Given the description of an element on the screen output the (x, y) to click on. 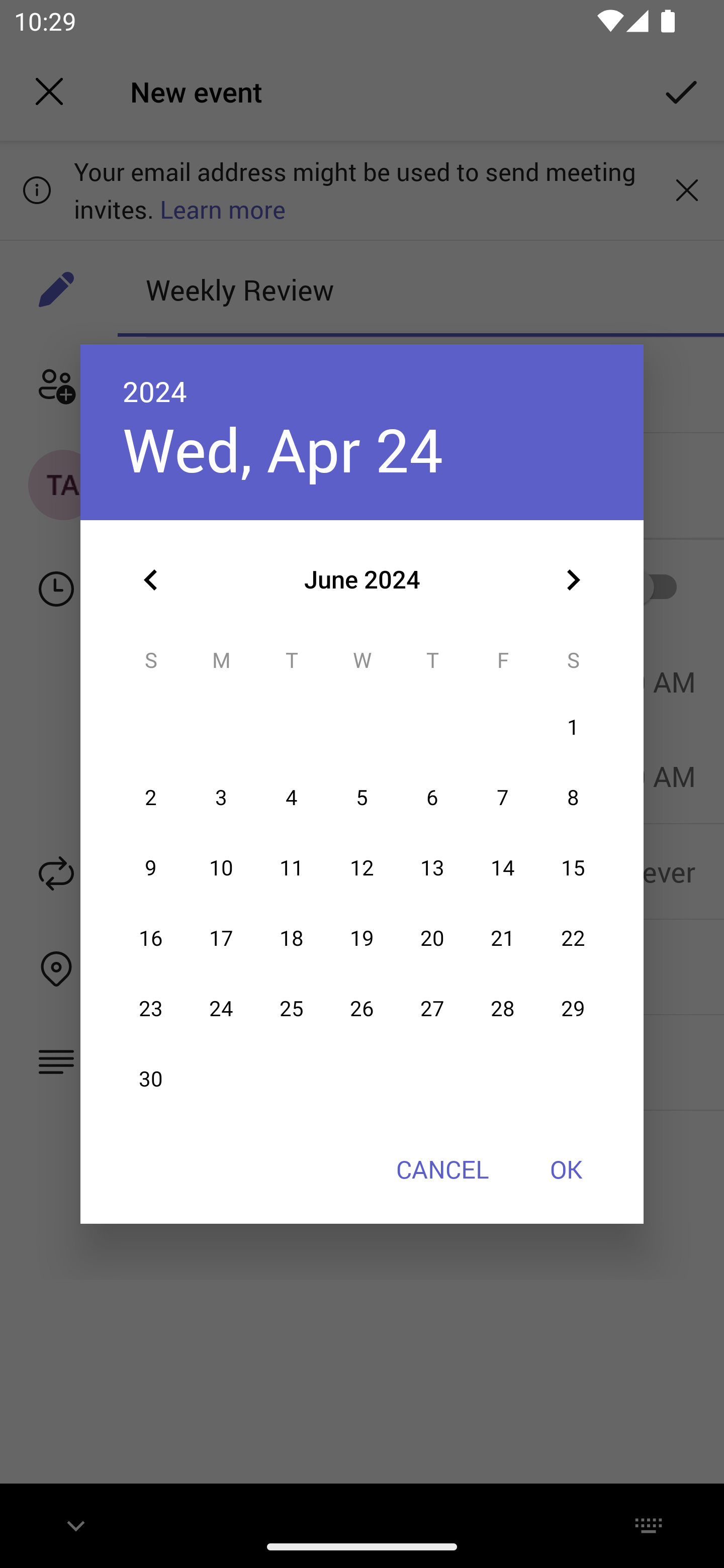
2024 (154, 391)
Wed, Apr 24 (282, 449)
Previous month (150, 579)
Next month (572, 579)
1 01 June 2024 (572, 728)
2 02 June 2024 (150, 797)
3 03 June 2024 (221, 797)
4 04 June 2024 (291, 797)
5 05 June 2024 (361, 797)
6 06 June 2024 (432, 797)
7 07 June 2024 (502, 797)
8 08 June 2024 (572, 797)
9 09 June 2024 (150, 867)
10 10 June 2024 (221, 867)
11 11 June 2024 (291, 867)
12 12 June 2024 (361, 867)
13 13 June 2024 (432, 867)
14 14 June 2024 (502, 867)
15 15 June 2024 (572, 867)
16 16 June 2024 (150, 938)
17 17 June 2024 (221, 938)
18 18 June 2024 (291, 938)
19 19 June 2024 (361, 938)
20 20 June 2024 (432, 938)
21 21 June 2024 (502, 938)
22 22 June 2024 (572, 938)
23 23 June 2024 (150, 1008)
24 24 June 2024 (221, 1008)
25 25 June 2024 (291, 1008)
26 26 June 2024 (361, 1008)
27 27 June 2024 (432, 1008)
28 28 June 2024 (502, 1008)
29 29 June 2024 (572, 1008)
30 30 June 2024 (150, 1079)
CANCEL (442, 1168)
OK (565, 1168)
